Given the description of an element on the screen output the (x, y) to click on. 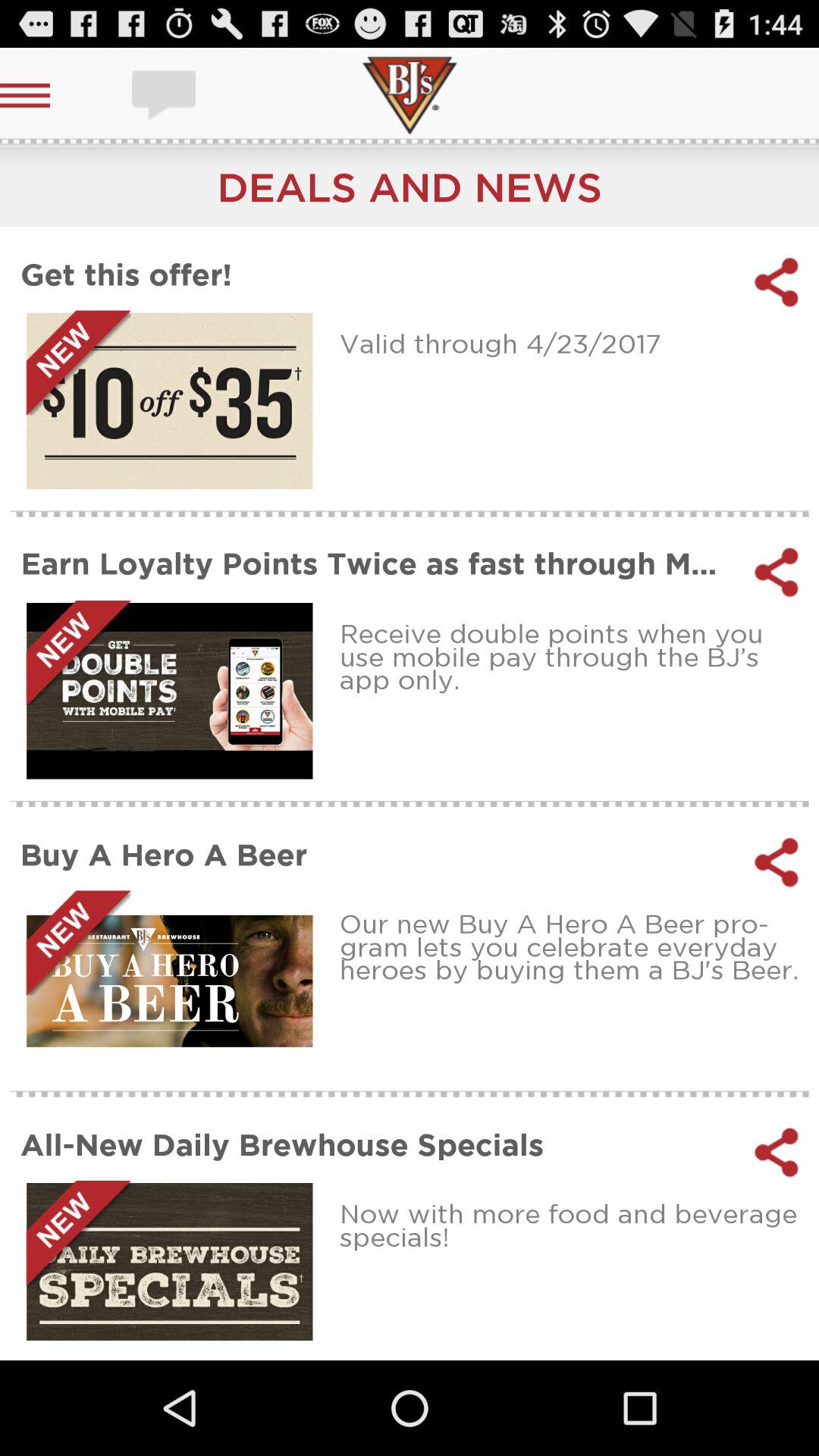
click on share button where buy a hero a beer is written (776, 862)
